Given the description of an element on the screen output the (x, y) to click on. 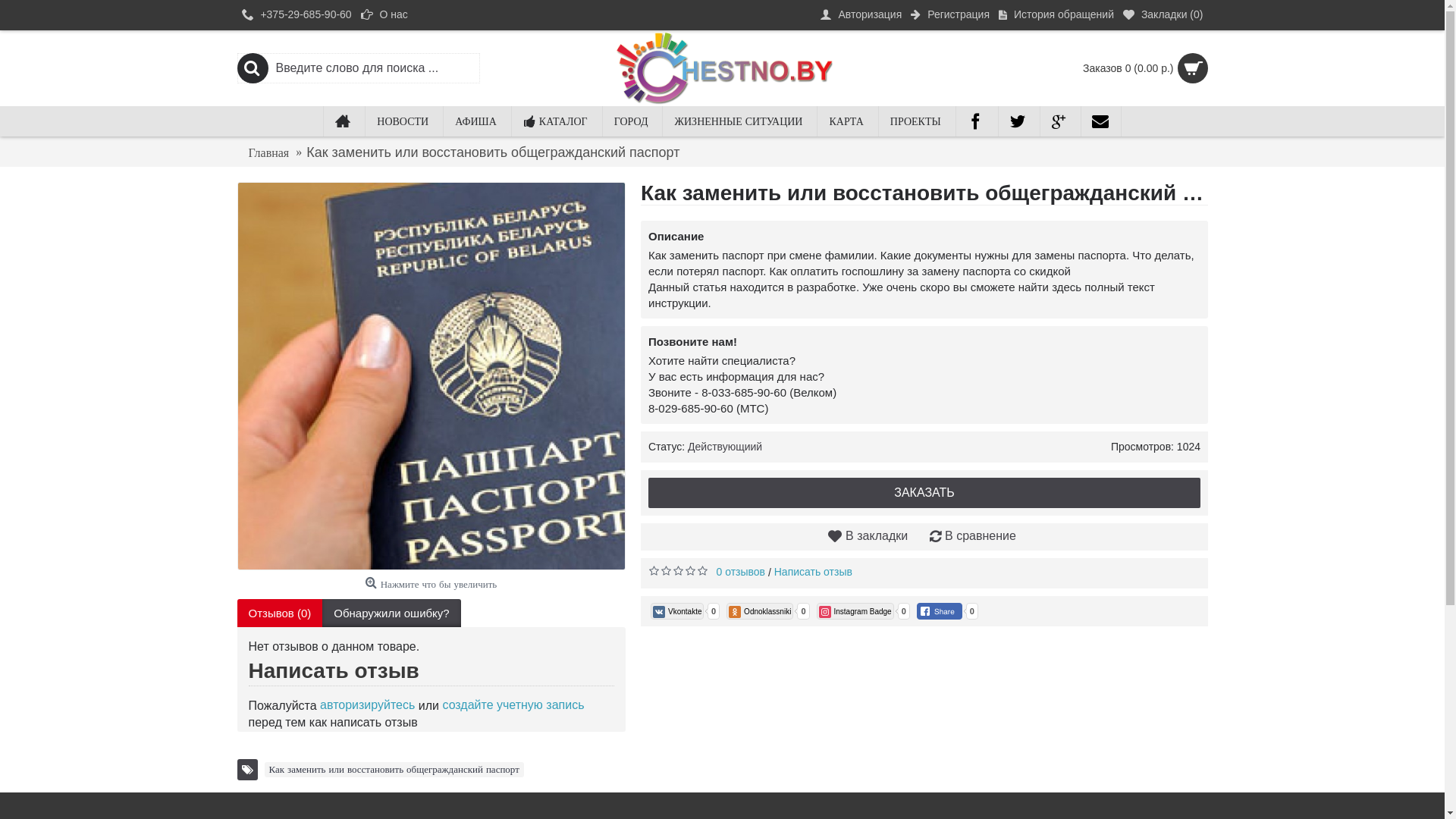
+375-29-685-90-60 Element type: text (295, 15)
